Given the description of an element on the screen output the (x, y) to click on. 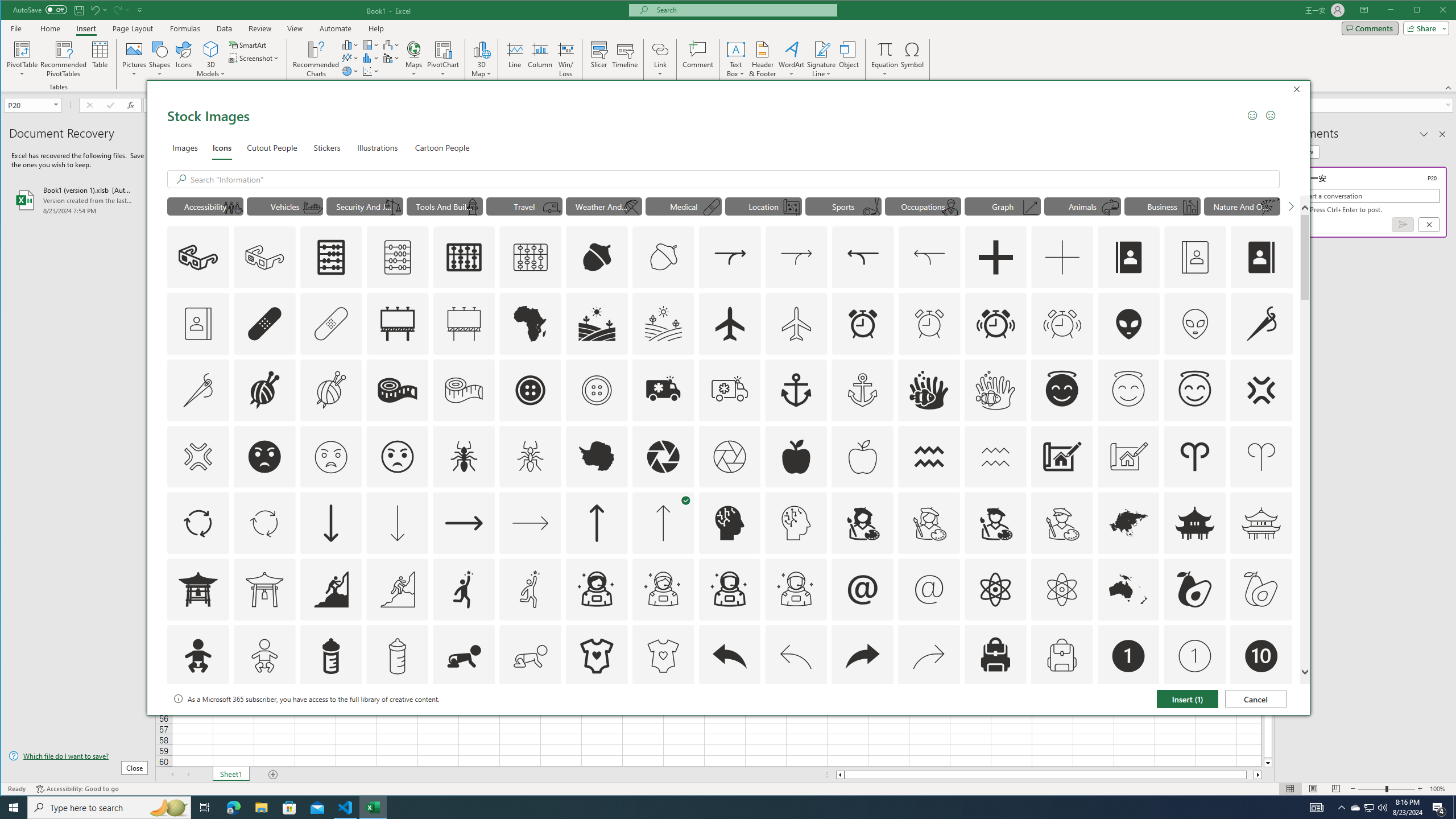
AutomationID: Icons_Acquisition_RTL_M (928, 256)
AutomationID: Icons_AlienFace (1128, 323)
AutomationID: Icons_Back_LTR (729, 655)
AutomationID: _134_Angel_Face_A (1061, 389)
AutomationID: Icons_Acquisition_LTR (729, 256)
